Given the description of an element on the screen output the (x, y) to click on. 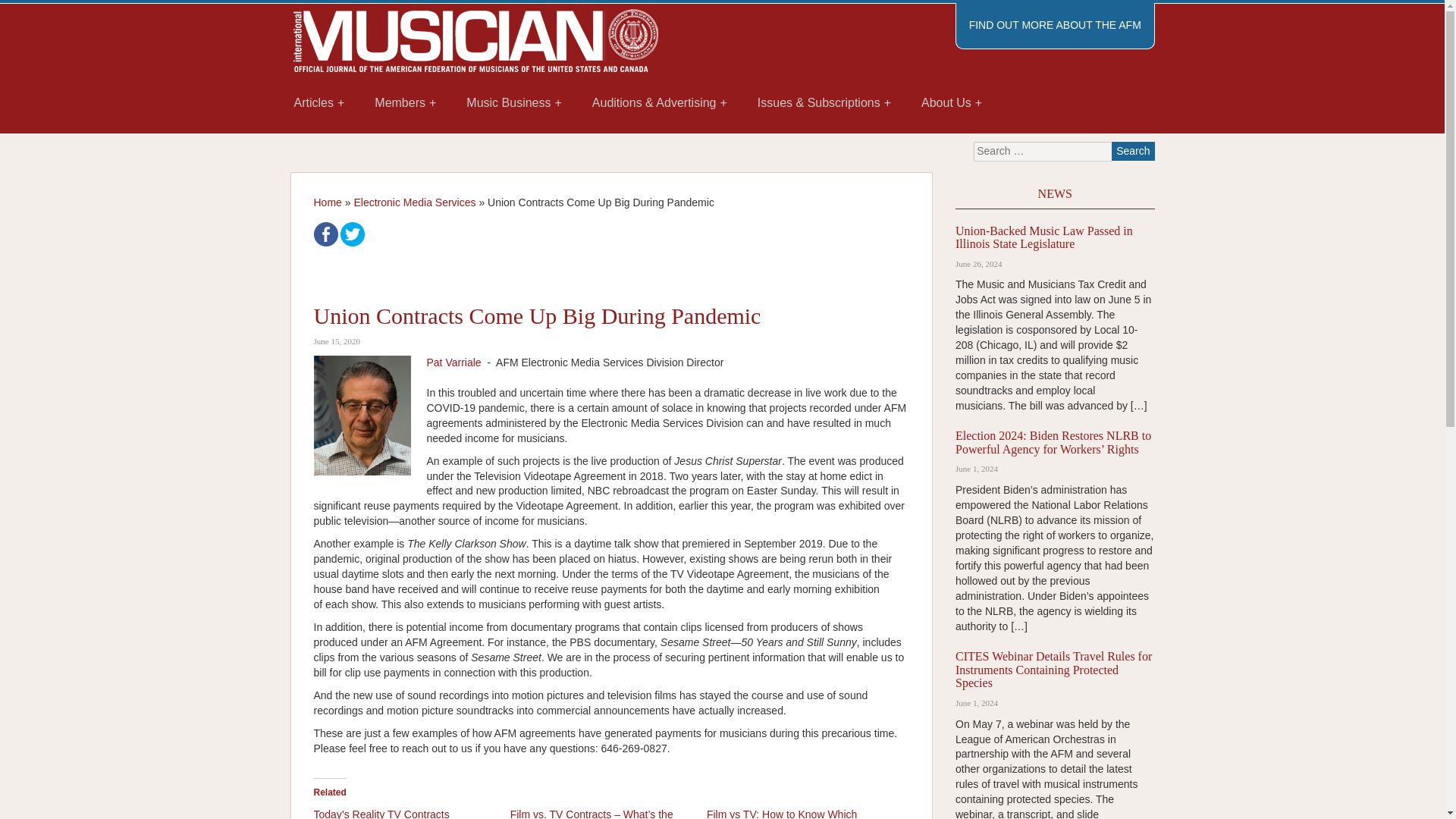
Posts by Pat Varriale (453, 362)
Film vs TV: How to Know Which Agreement to Use (781, 813)
About Us (951, 102)
Search (1133, 150)
Search (1133, 150)
Music Business (513, 102)
Members (405, 102)
Tweet (352, 233)
Share on Facebook (325, 233)
Articles (319, 102)
